Given the description of an element on the screen output the (x, y) to click on. 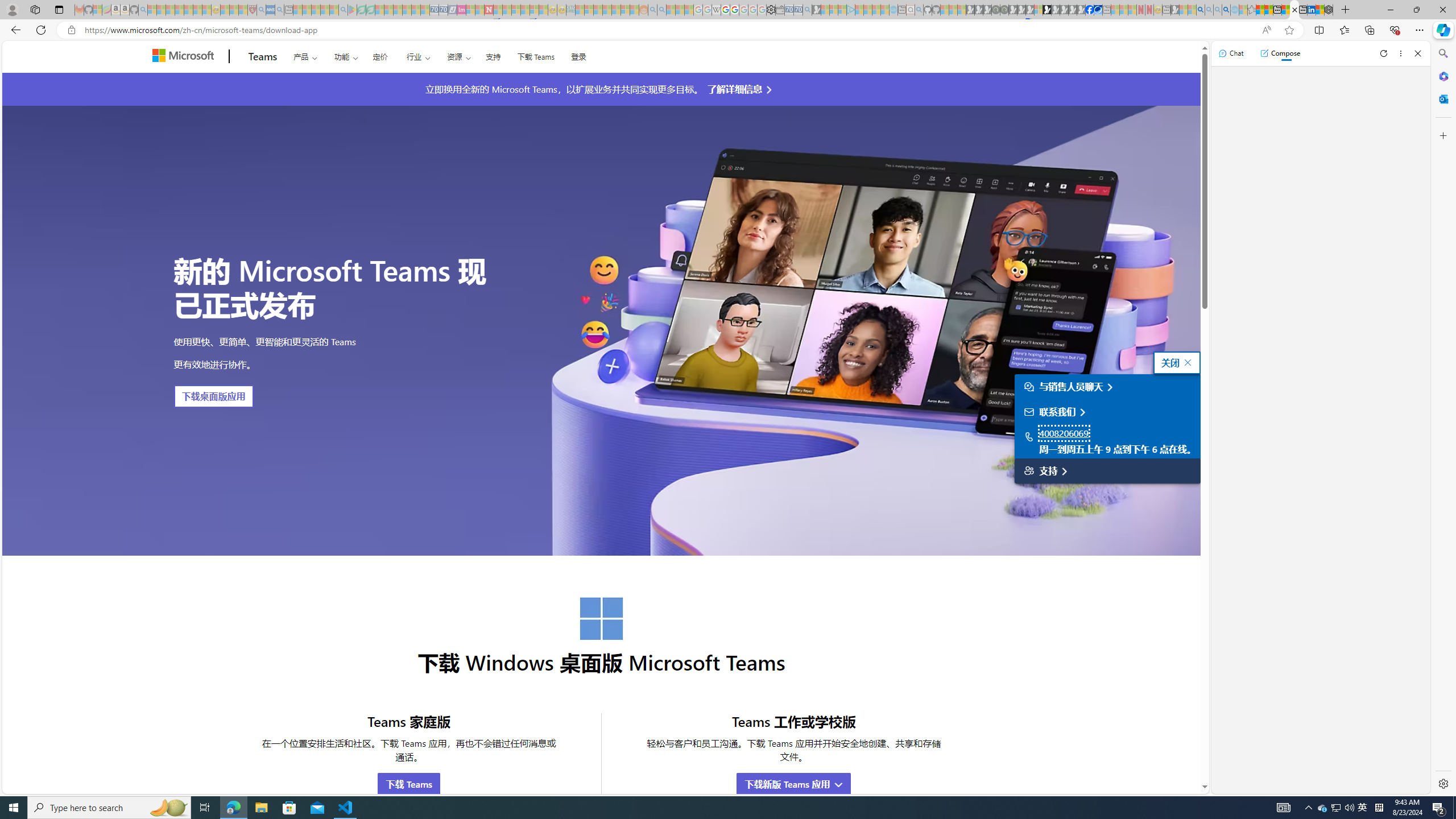
MSN - Sleeping (1174, 9)
Privacy Help Center - Policies Help (725, 9)
Cheap Hotels - Save70.com - Sleeping (442, 9)
